Given the description of an element on the screen output the (x, y) to click on. 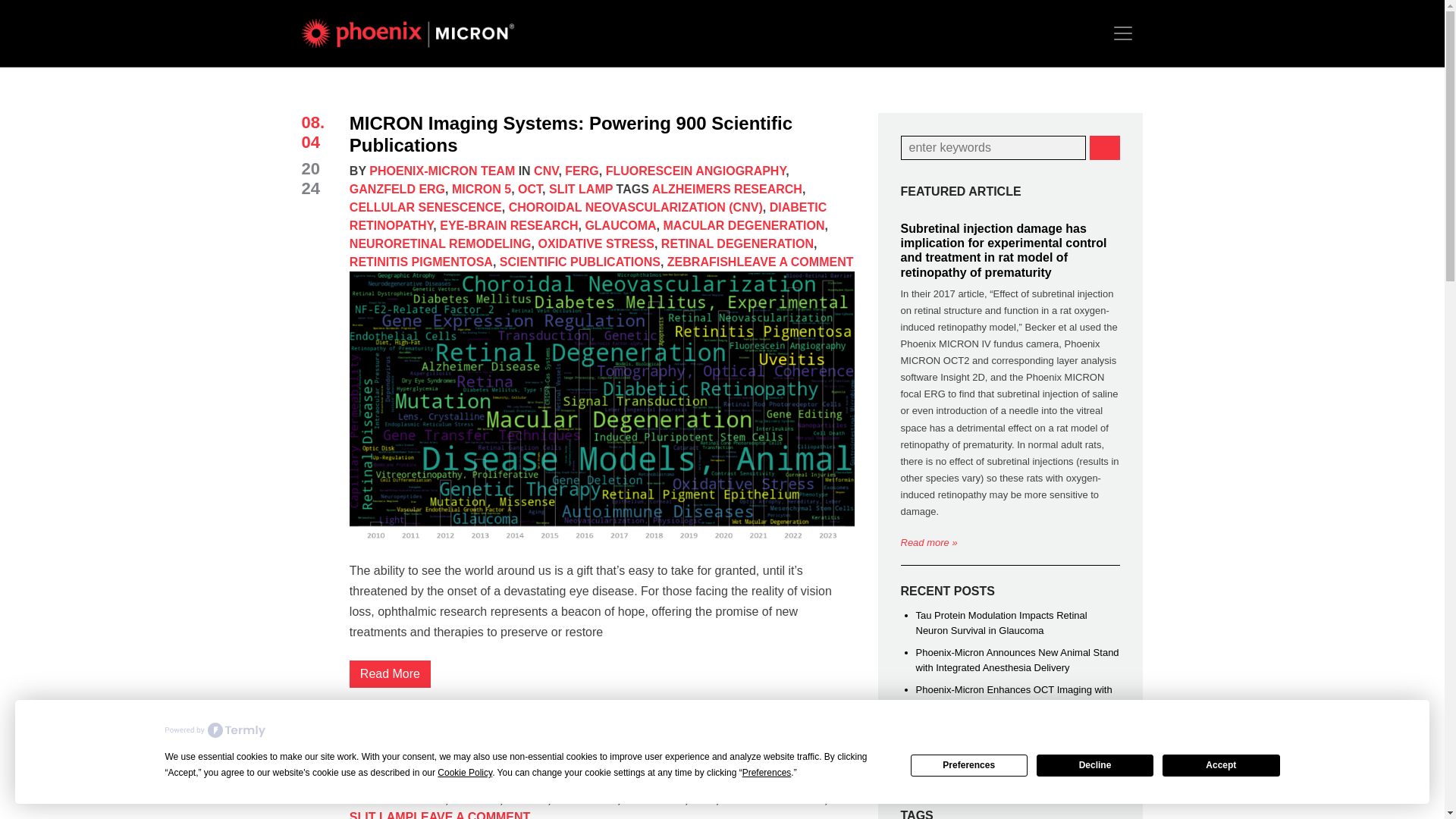
MICRON Imaging Systems: Powering 900 Scientific Publications (570, 134)
Decline (1094, 764)
MICRON 5 (481, 188)
PHOENIX-MICRON TEAM (442, 170)
Search (1104, 147)
SLIT LAMP (580, 188)
Nav (1122, 32)
Search (1104, 147)
FLUORESCEIN ANGIOGRAPHY (695, 170)
FERG (581, 170)
CELLULAR SENESCENCE (425, 206)
OCT (529, 188)
Phoenix (415, 32)
ALZHEIMERS RESEARCH (727, 188)
GANZFELD ERG (397, 188)
